Given the description of an element on the screen output the (x, y) to click on. 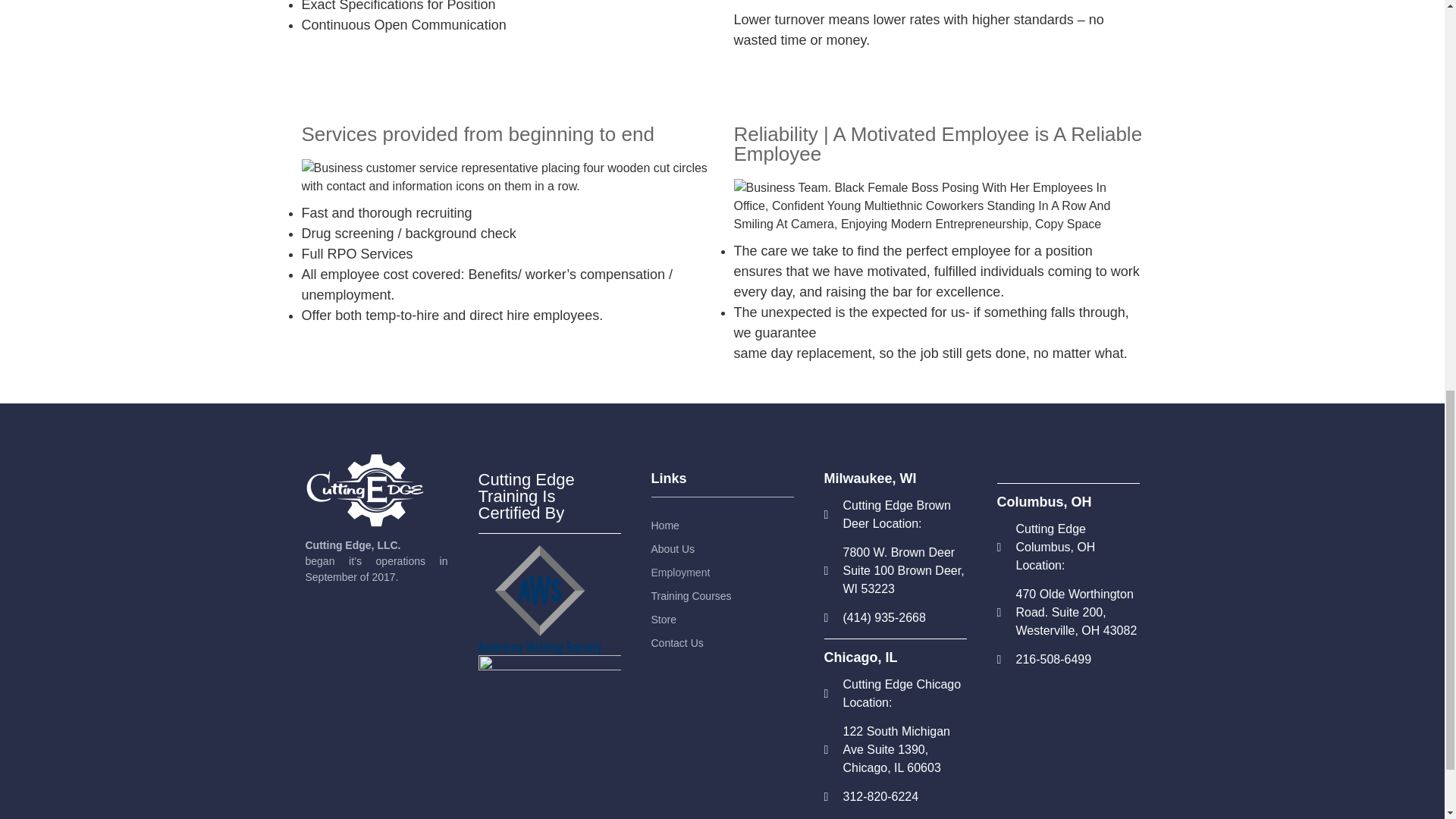
white cutting edge logo (363, 490)
Home (718, 525)
Business customer service concept (506, 176)
312-820-6224 (895, 796)
About Us (718, 548)
Store (718, 619)
216-508-6499 (1066, 659)
Contact Us (718, 642)
Employment (718, 572)
